Given the description of an element on the screen output the (x, y) to click on. 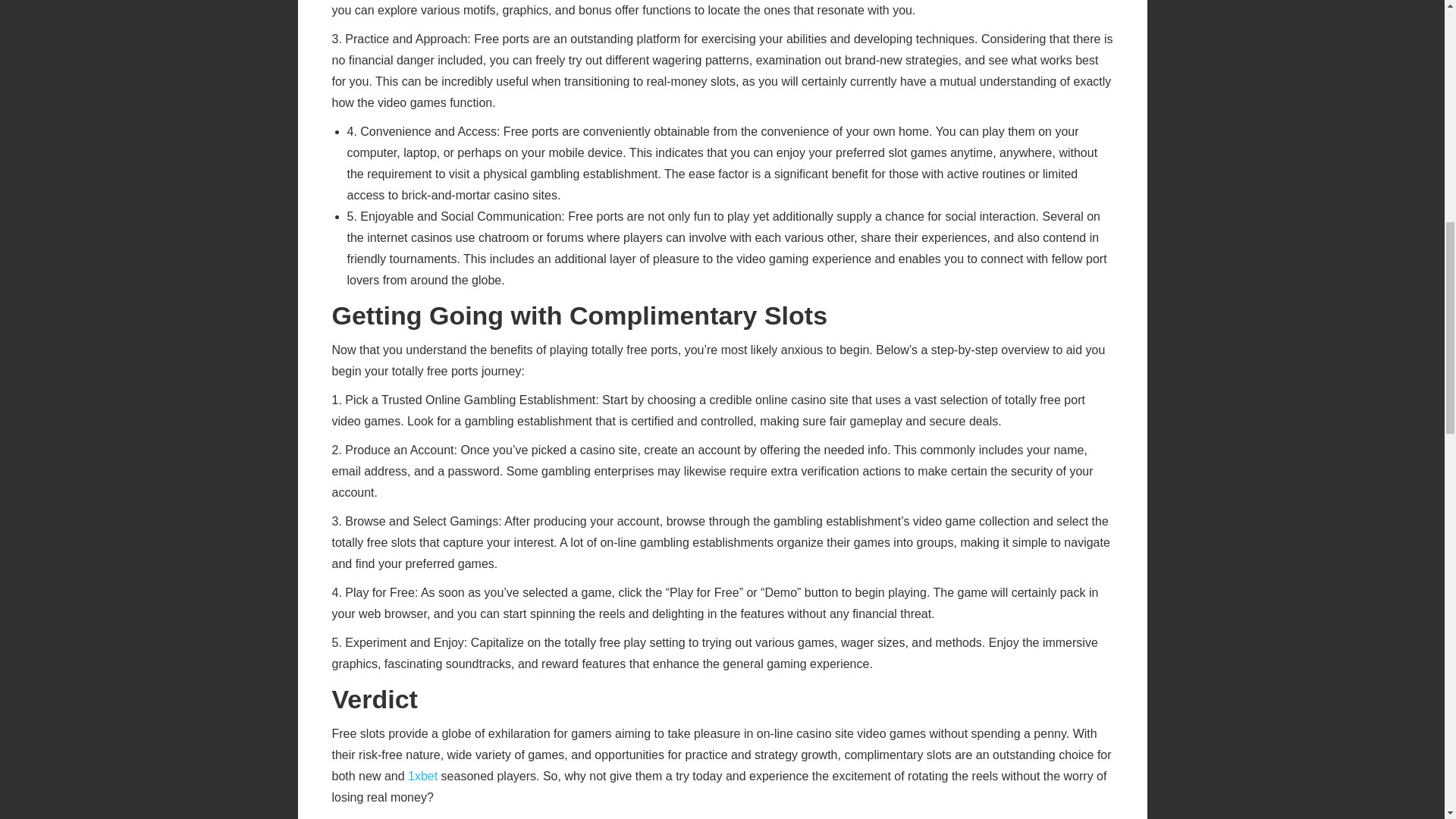
1xbet (422, 775)
